Given the description of an element on the screen output the (x, y) to click on. 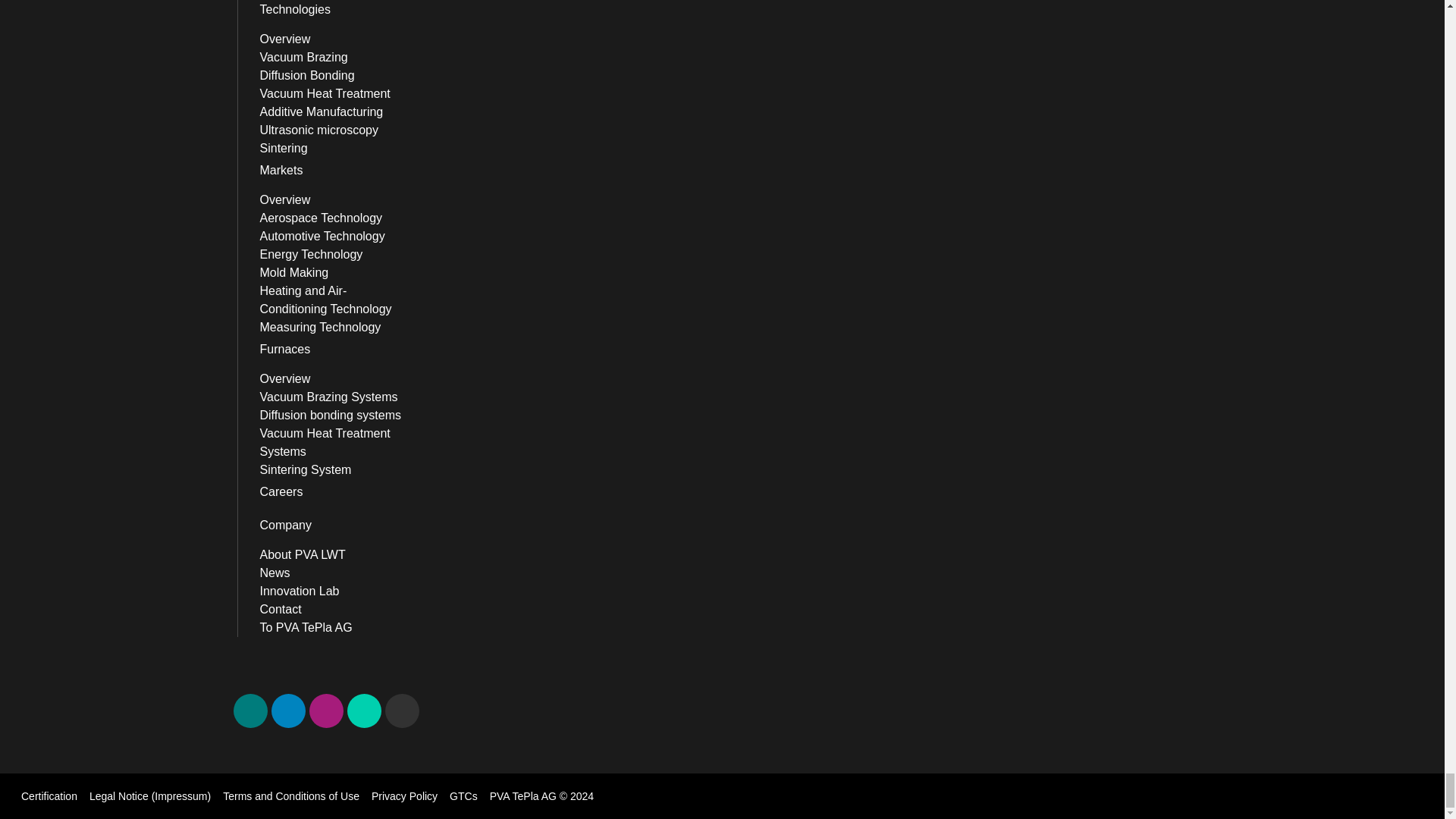
Diffusion Bonding (335, 75)
Overview (335, 39)
Vacuum Brazing (335, 57)
Vacuum Heat Treatment (335, 94)
Additive Manufacturing (335, 112)
Technologies (335, 11)
